Given the description of an element on the screen output the (x, y) to click on. 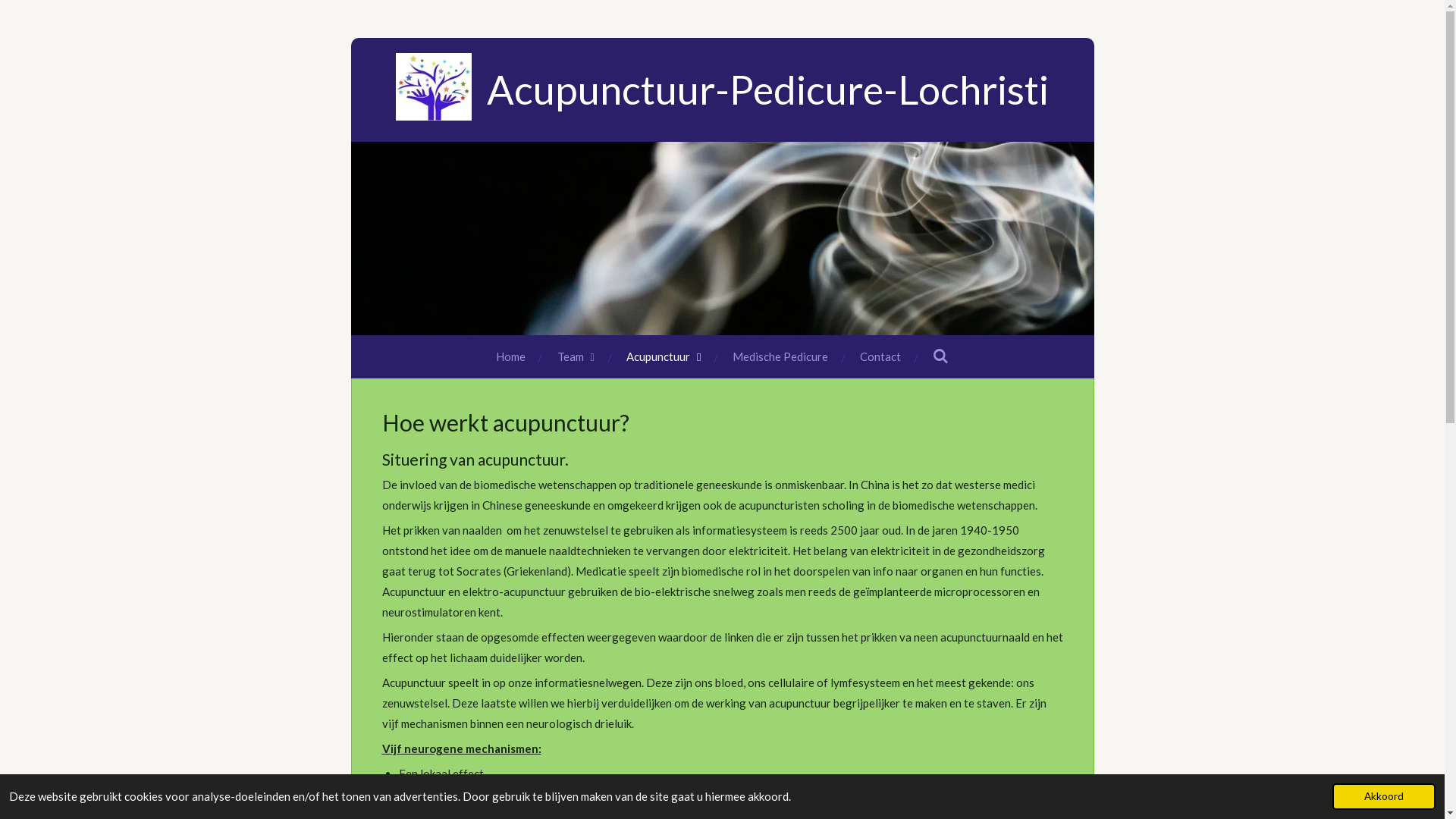
Acupunctuur-Pedicure-Lochristi Element type: text (767, 93)
Contact Element type: text (880, 356)
Medische Pedicure Element type: text (780, 356)
acupunctuur-pedicure-lochristi Element type: hover (433, 86)
Home Element type: text (510, 356)
Acupunctuur Element type: text (663, 356)
Team Element type: text (575, 356)
Akkoord Element type: text (1383, 796)
Zoeken Element type: hover (940, 356)
